Given the description of an element on the screen output the (x, y) to click on. 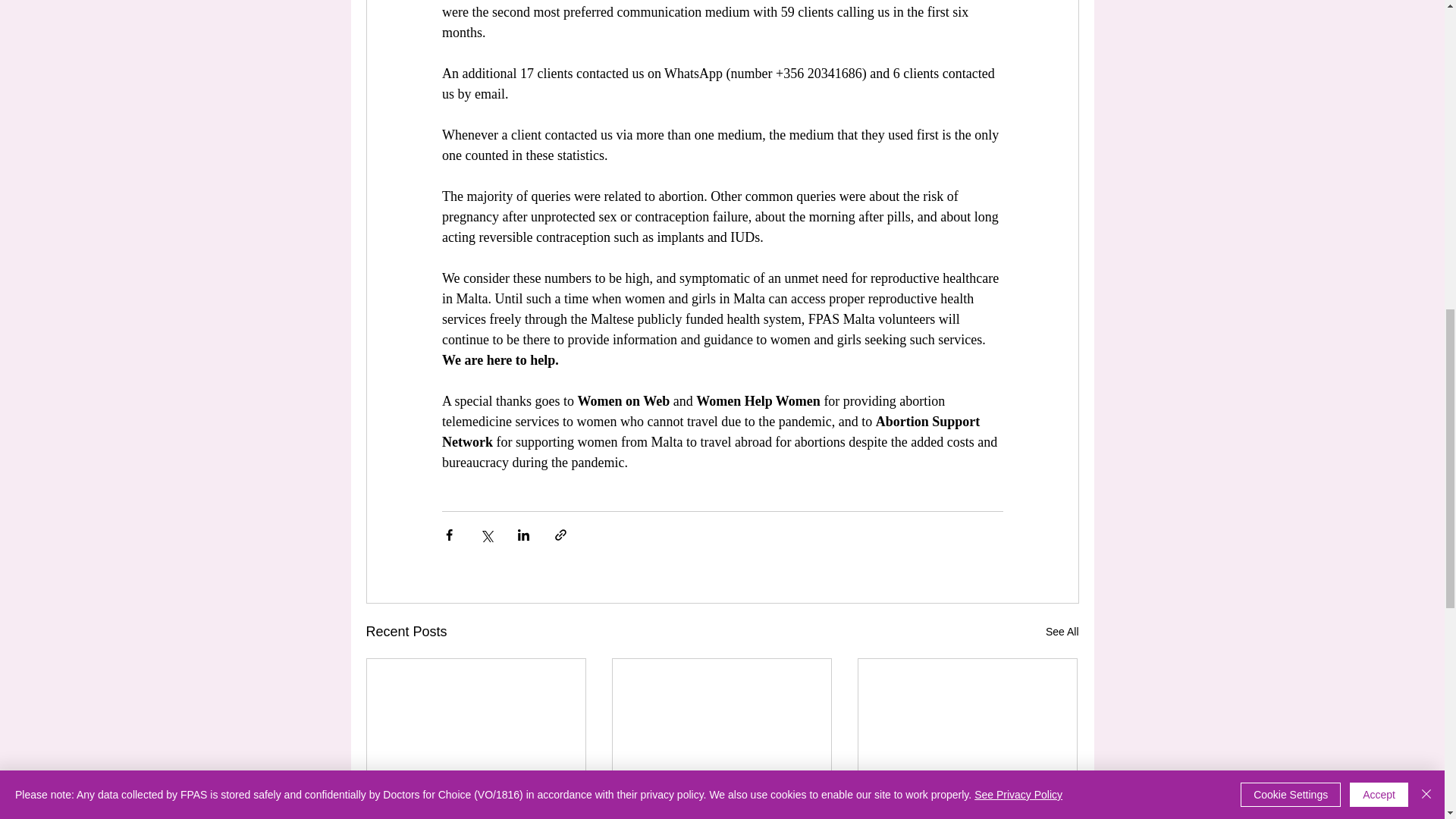
479 clients helped in our first year (476, 809)
Differences between Women on Web and Women Help Women (721, 809)
See All (1061, 631)
